Given the description of an element on the screen output the (x, y) to click on. 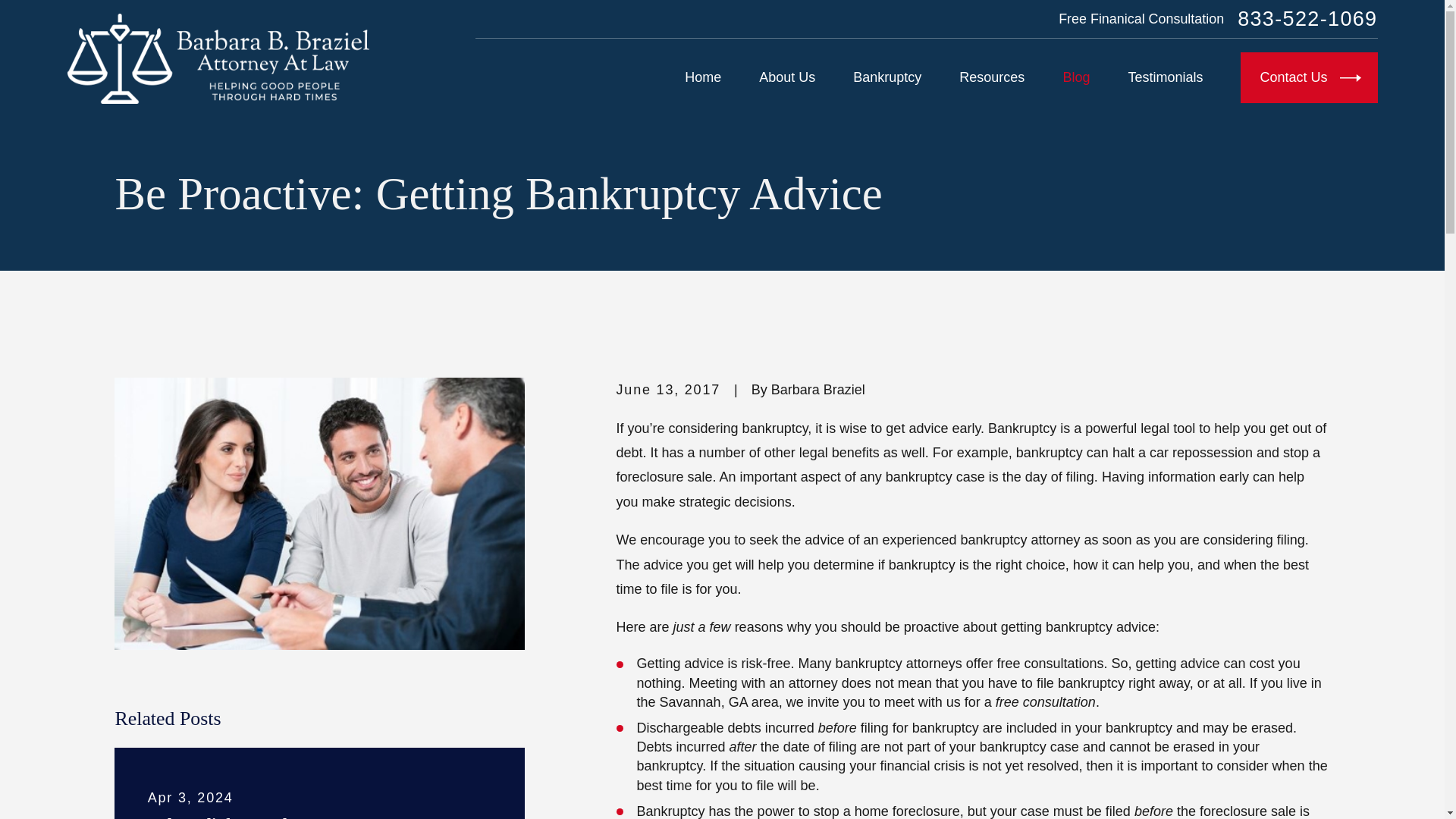
Bankruptcy (887, 78)
Barbara B. Braziel Attorney At Law (217, 58)
833-522-1069 (1307, 19)
Home (217, 58)
About Us (786, 78)
Resources (992, 78)
